Given the description of an element on the screen output the (x, y) to click on. 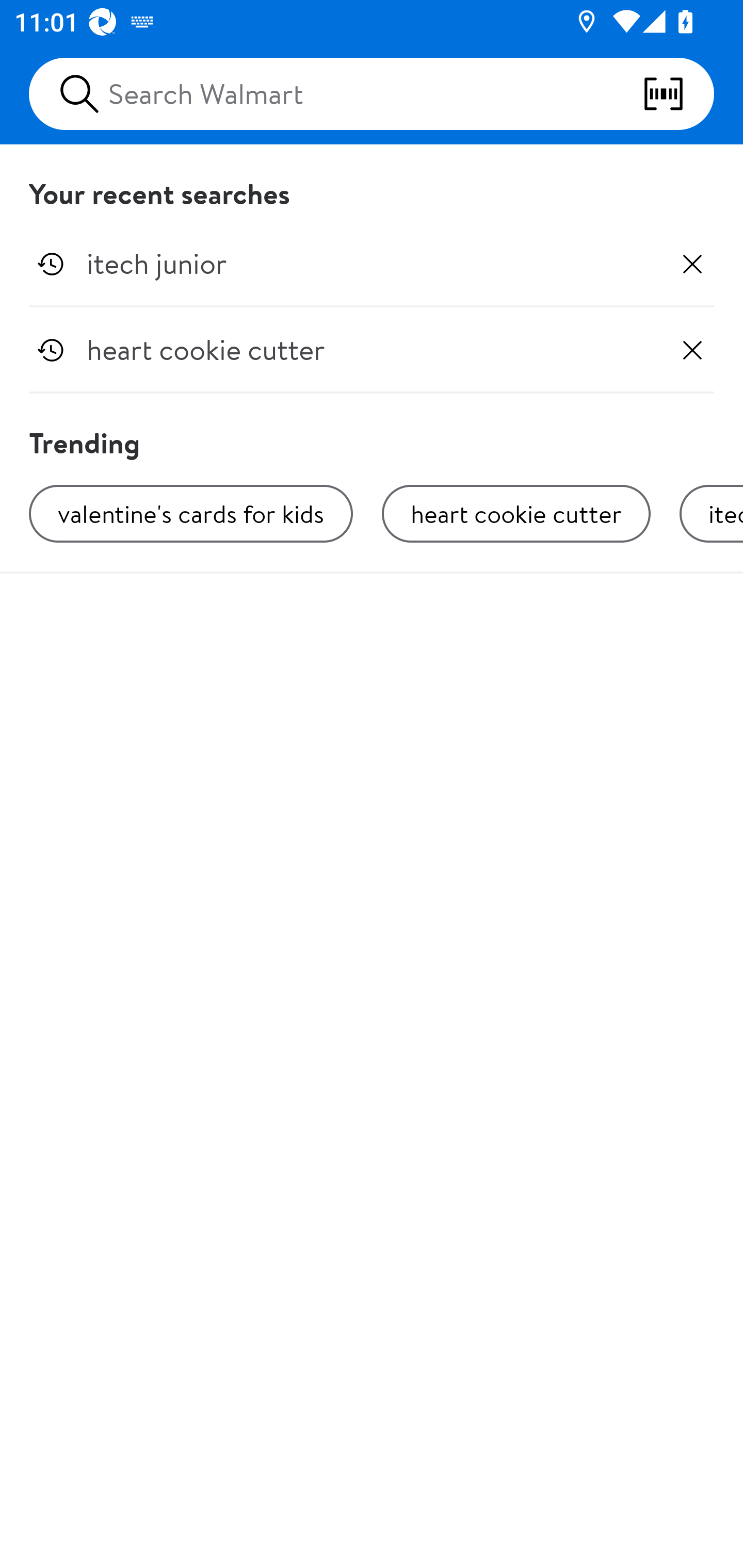
Search Walmart scan barcodes qr codes and more (371, 94)
scan barcodes qr codes and more (677, 94)
Remove recent search for itech junior (692, 264)
Remove recent search for heart cookie cutter (692, 350)
